Given the description of an element on the screen output the (x, y) to click on. 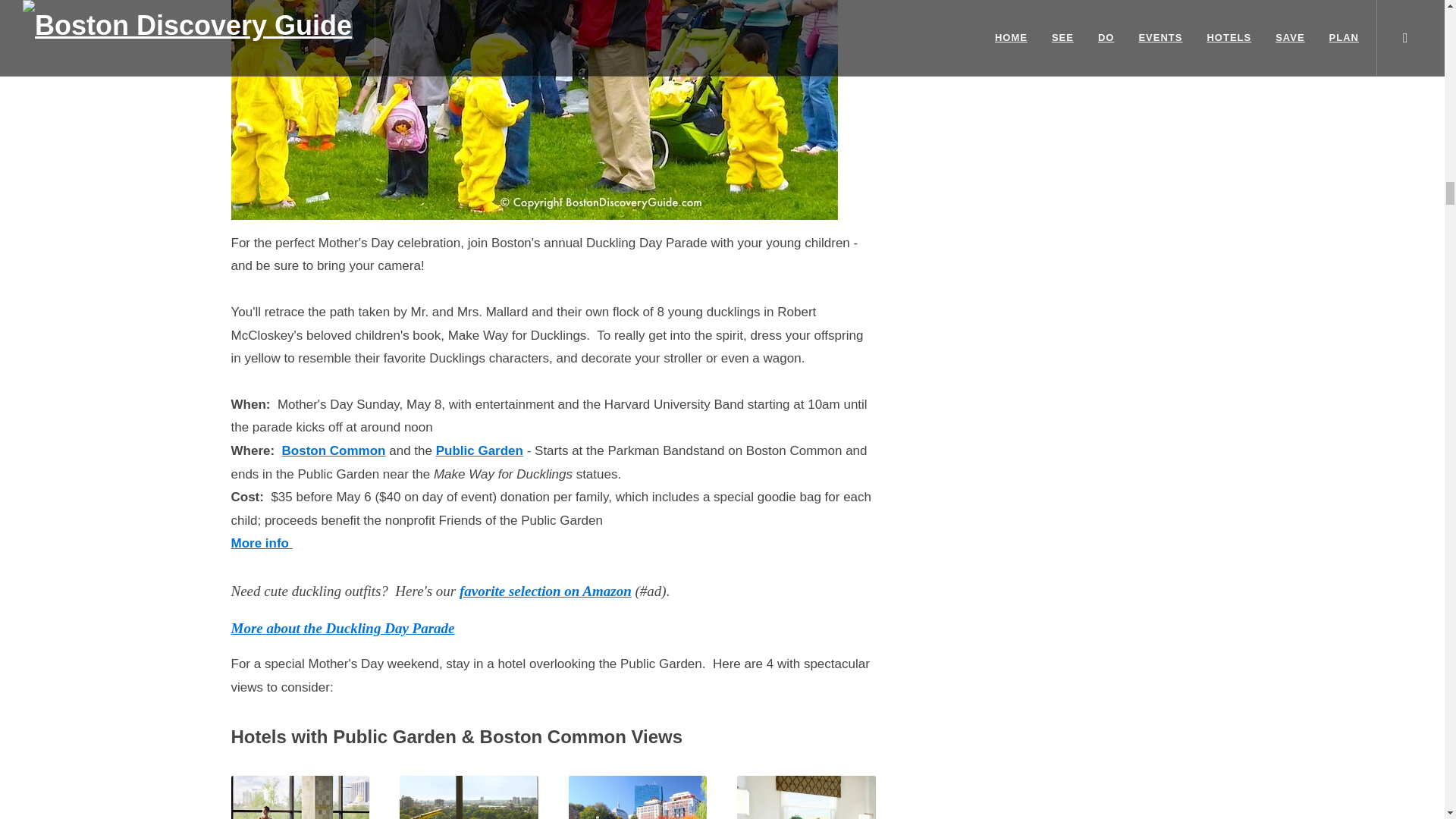
Newbury Hotel Boston (638, 797)
Ritz-Carlton Boston Common (468, 797)
Duckling Day Parade in Boston (533, 110)
Four Seasons Hotel in Boston (299, 797)
Park Plaza Hotel Boston (806, 797)
